Given the description of an element on the screen output the (x, y) to click on. 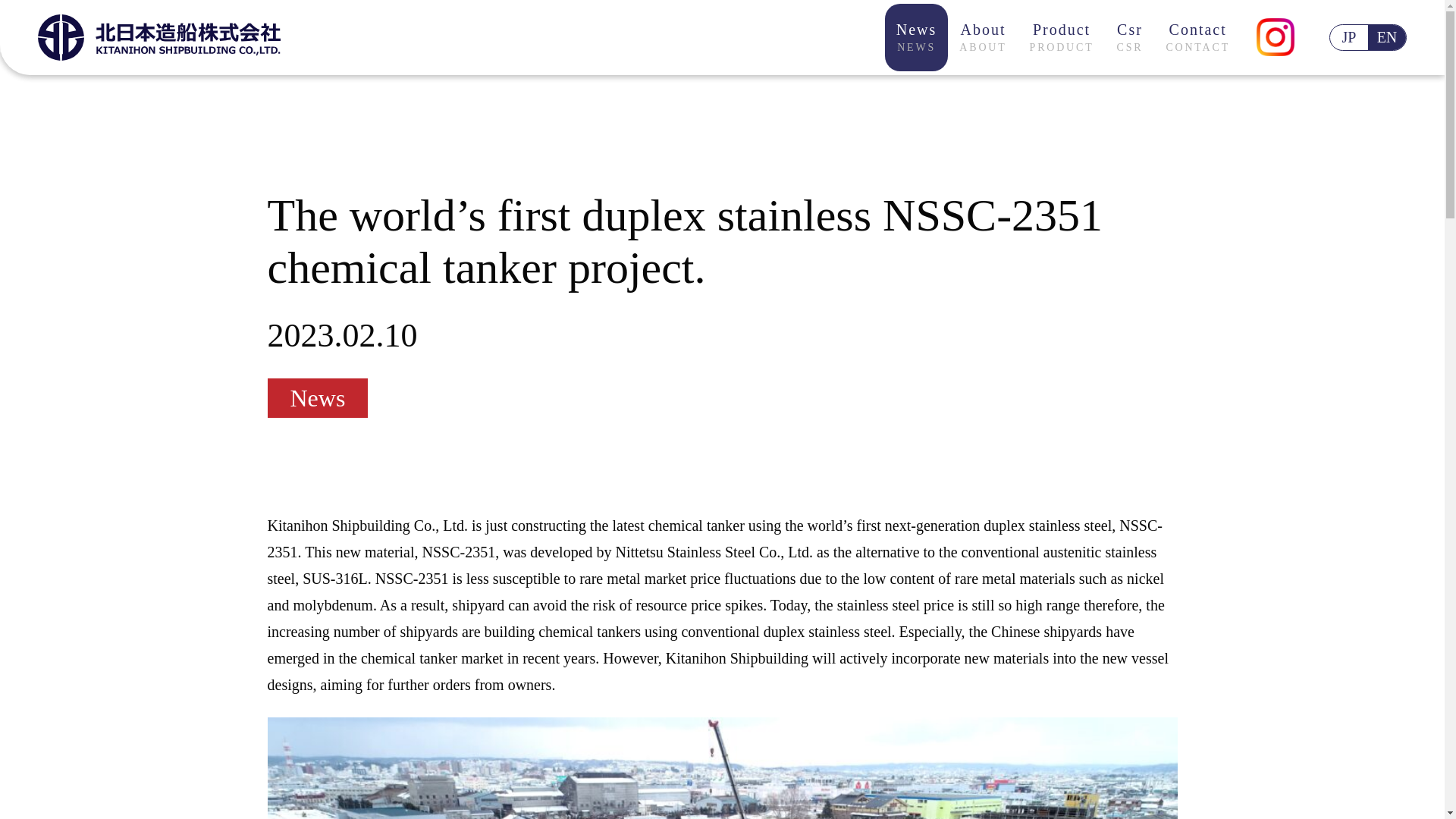
History (1197, 37)
List of officers (1061, 37)
List of Bussiness Establishment (517, 25)
Factory tour (982, 37)
Kitanihon Ship building Initiatives (1013, 25)
About Us (702, 25)
Activity (921, 25)
